Given the description of an element on the screen output the (x, y) to click on. 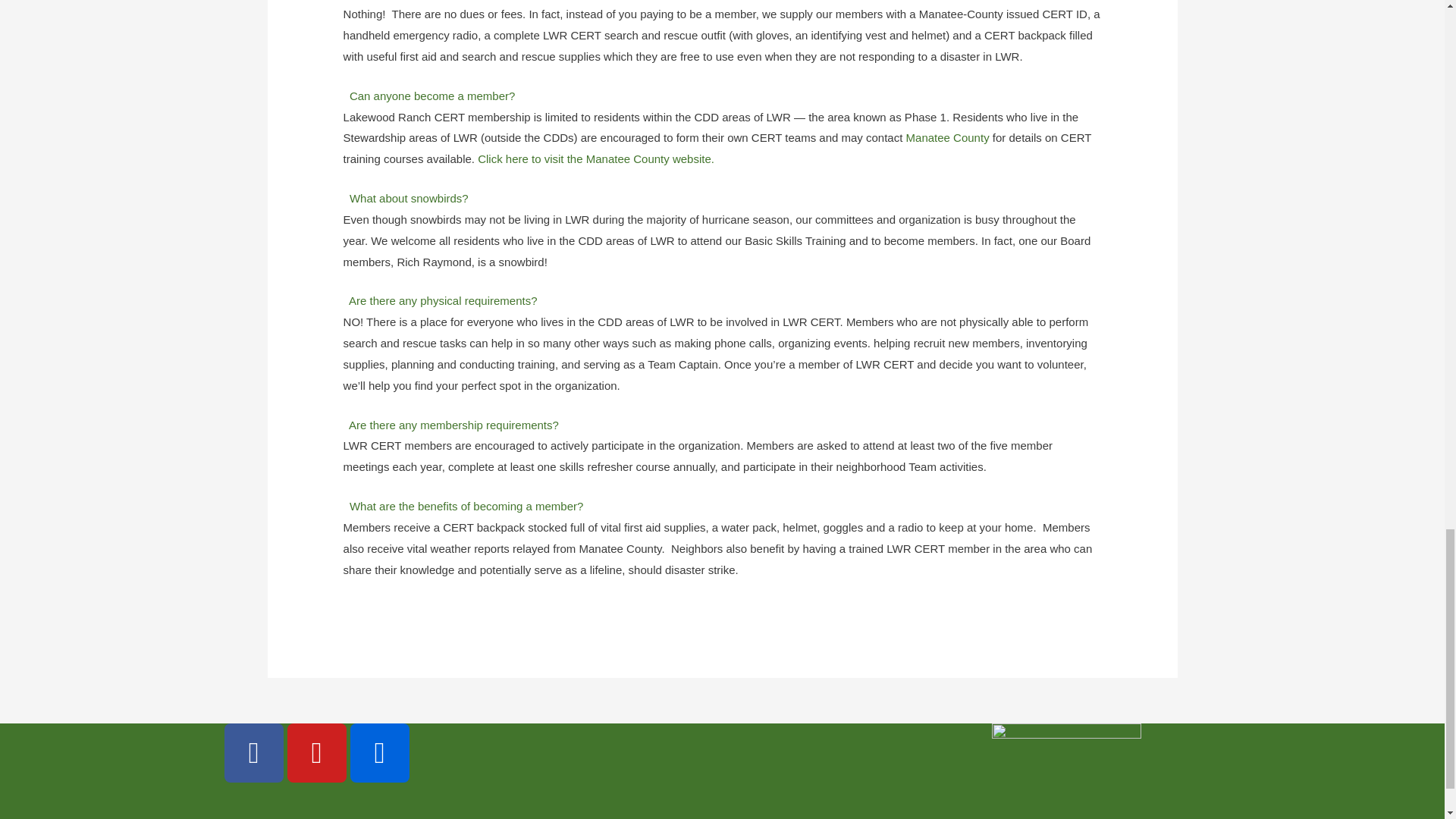
Click here to visit the Manatee County website. (595, 158)
Youtube (316, 752)
Can anyone become a member? (432, 95)
Are there any membership requirements? (454, 424)
Are there any physical requirements? (443, 300)
Flickr (379, 752)
Facebook (253, 752)
What are the benefits of becoming a member? (466, 505)
What about snowbirds? (408, 197)
Manatee County (947, 137)
